Given the description of an element on the screen output the (x, y) to click on. 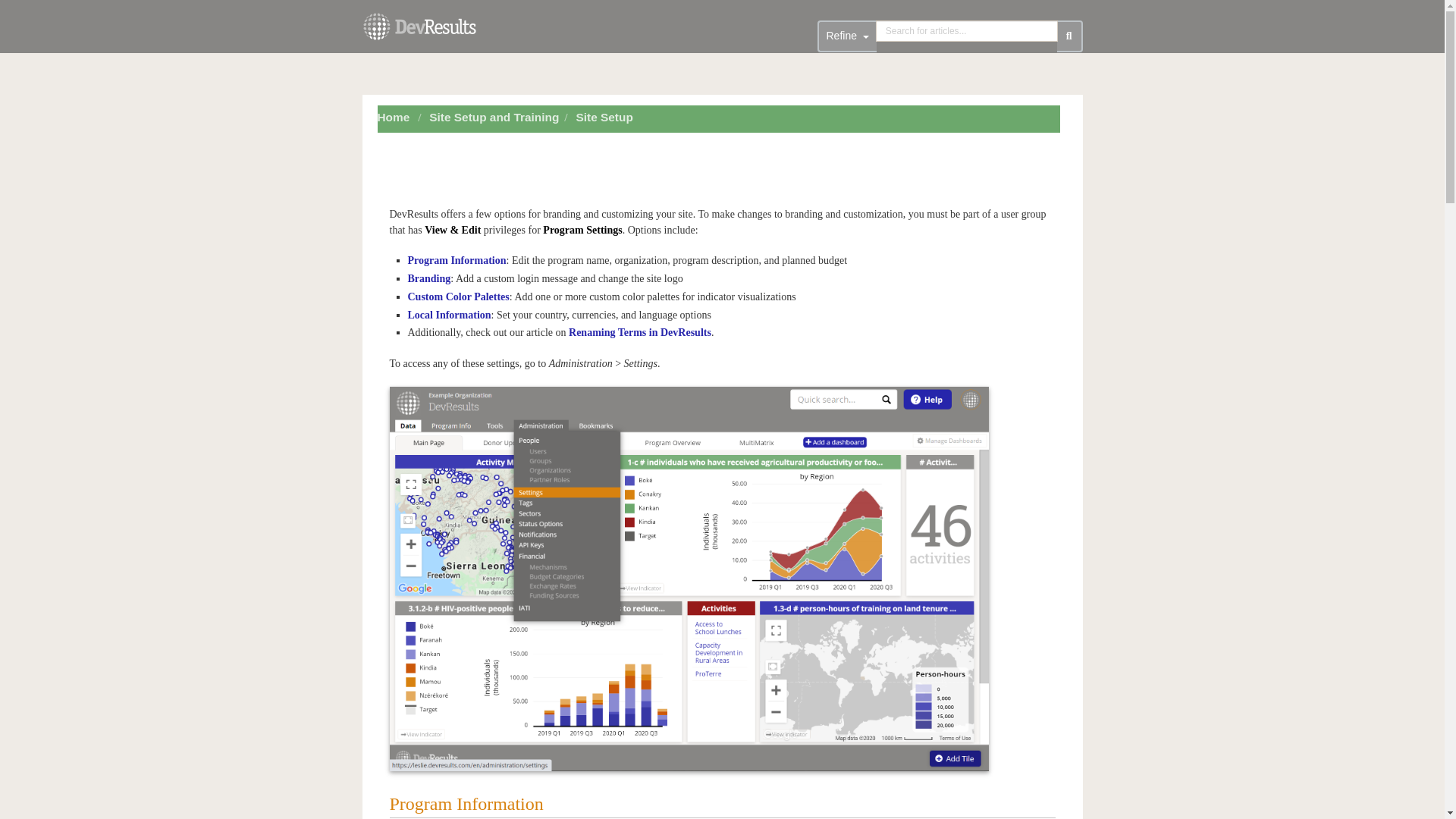
Local Information (449, 315)
Home (393, 116)
Refine (846, 36)
Site Setup and Training (494, 116)
Search (967, 30)
Renaming Terms in DevResults (640, 332)
Refine search (846, 36)
Download PDF (735, 143)
DevResults (419, 30)
Site Setup (606, 117)
Site Setup and Training (495, 117)
Branding (429, 278)
Custom Color Palettes (458, 296)
Search (1070, 36)
Site Setup (604, 116)
